Given the description of an element on the screen output the (x, y) to click on. 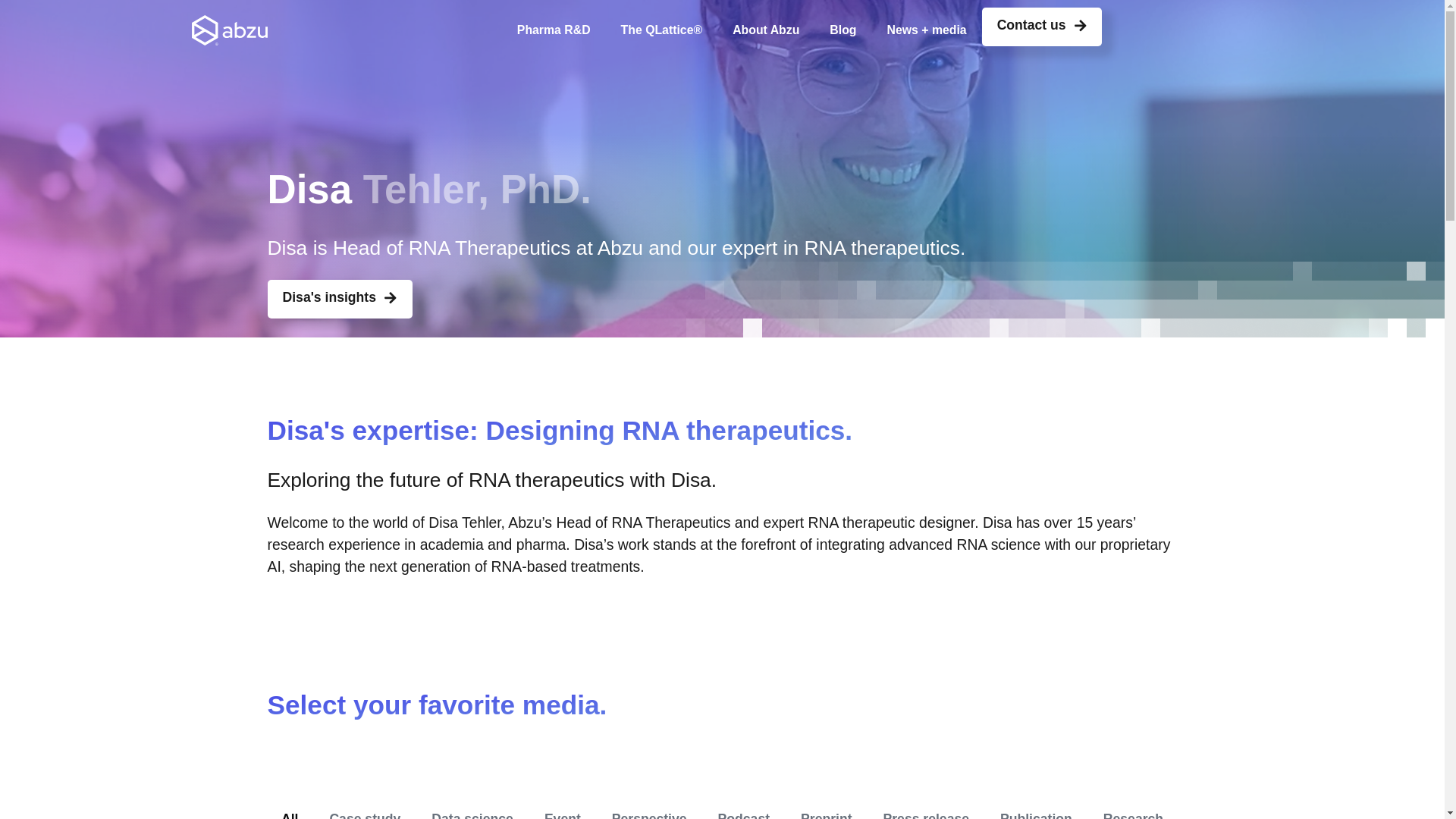
Blog (841, 30)
About Abzu (765, 30)
